Given the description of an element on the screen output the (x, y) to click on. 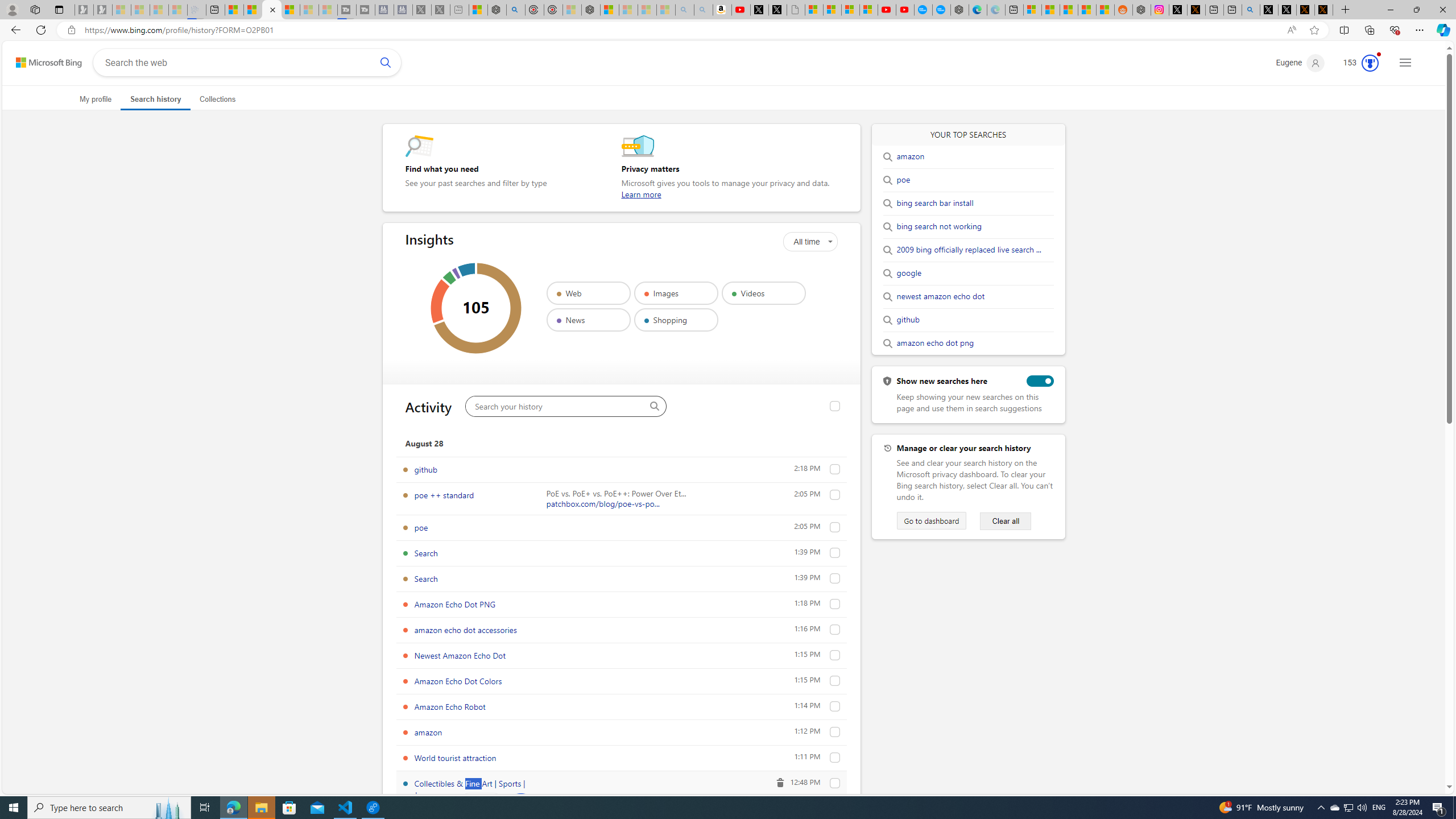
Close (1442, 9)
Selected time filter is All time (810, 241)
Refresh (40, 29)
Split screen (1344, 29)
Videos (763, 292)
poe ++ standard (443, 494)
New Tab (1346, 9)
The most popular Google 'how to' searches (941, 9)
Shopping (675, 319)
Address and search bar (680, 29)
My profile (96, 99)
patchbox.com/blog/poe-vs-po... (602, 503)
Images (675, 292)
Clear your search history (1005, 520)
